Given the description of an element on the screen output the (x, y) to click on. 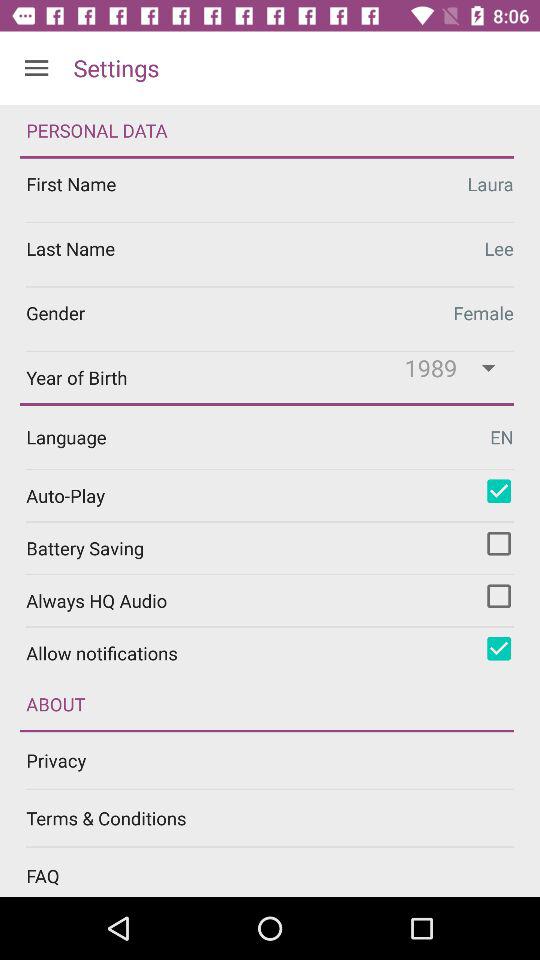
select language (270, 436)
